Given the description of an element on the screen output the (x, y) to click on. 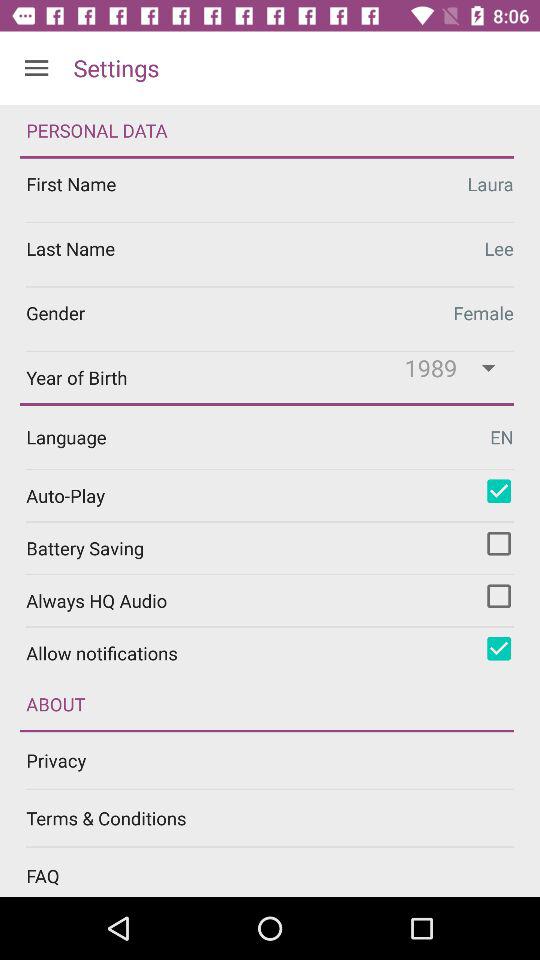
select language (270, 436)
